Given the description of an element on the screen output the (x, y) to click on. 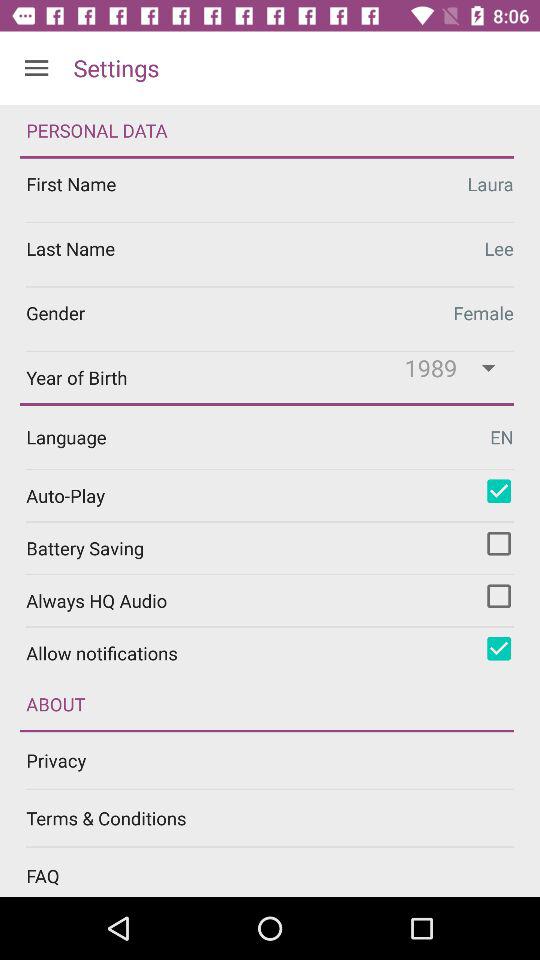
select language (270, 436)
